Given the description of an element on the screen output the (x, y) to click on. 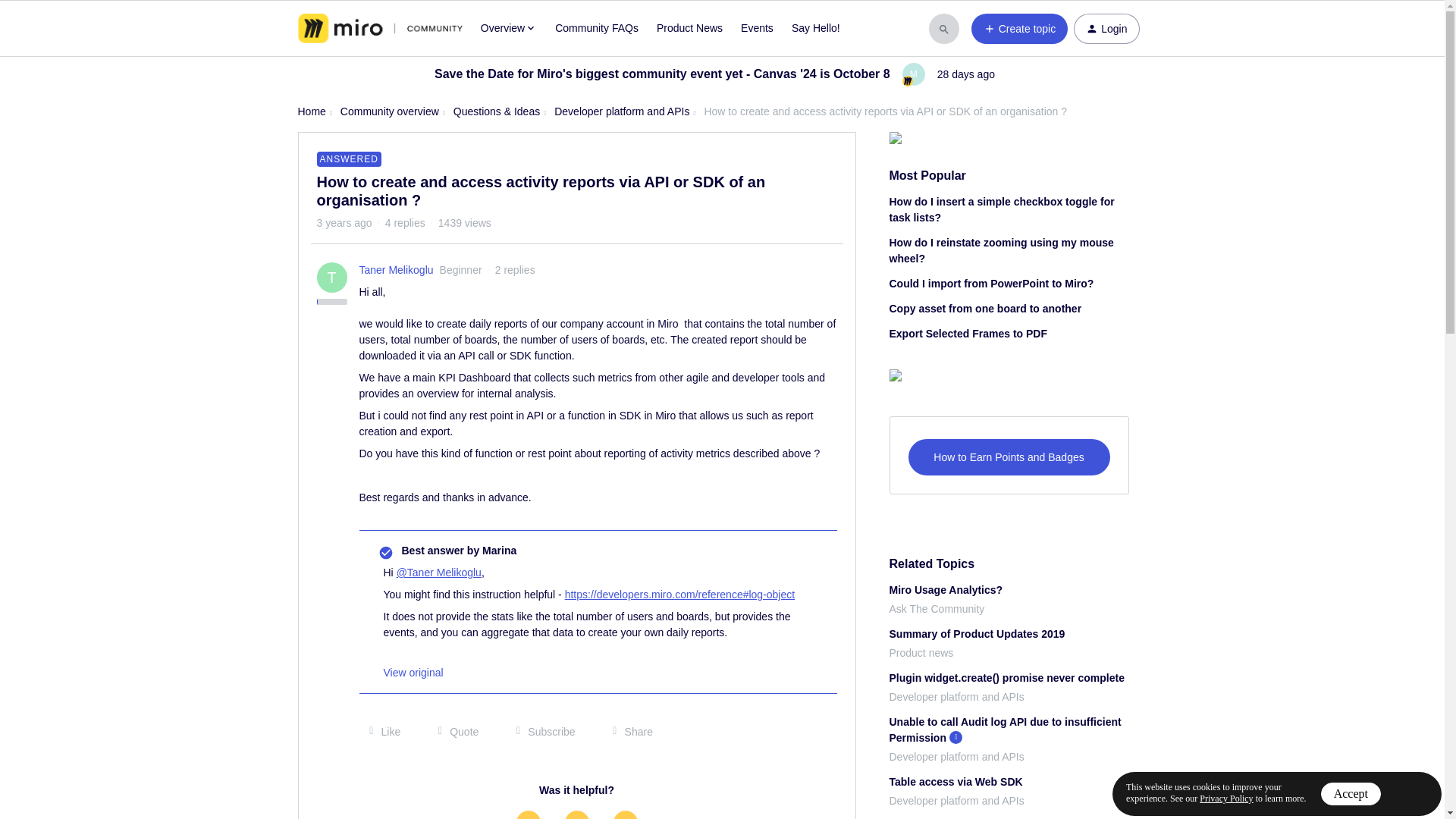
T (332, 277)
Community overview (389, 111)
Create topic (1019, 28)
Accept (1350, 793)
4 replies (405, 223)
Privacy Policy (1225, 798)
Product News (689, 28)
Home (310, 111)
Community FAQs (596, 28)
Say Hello! (816, 28)
